Given the description of an element on the screen output the (x, y) to click on. 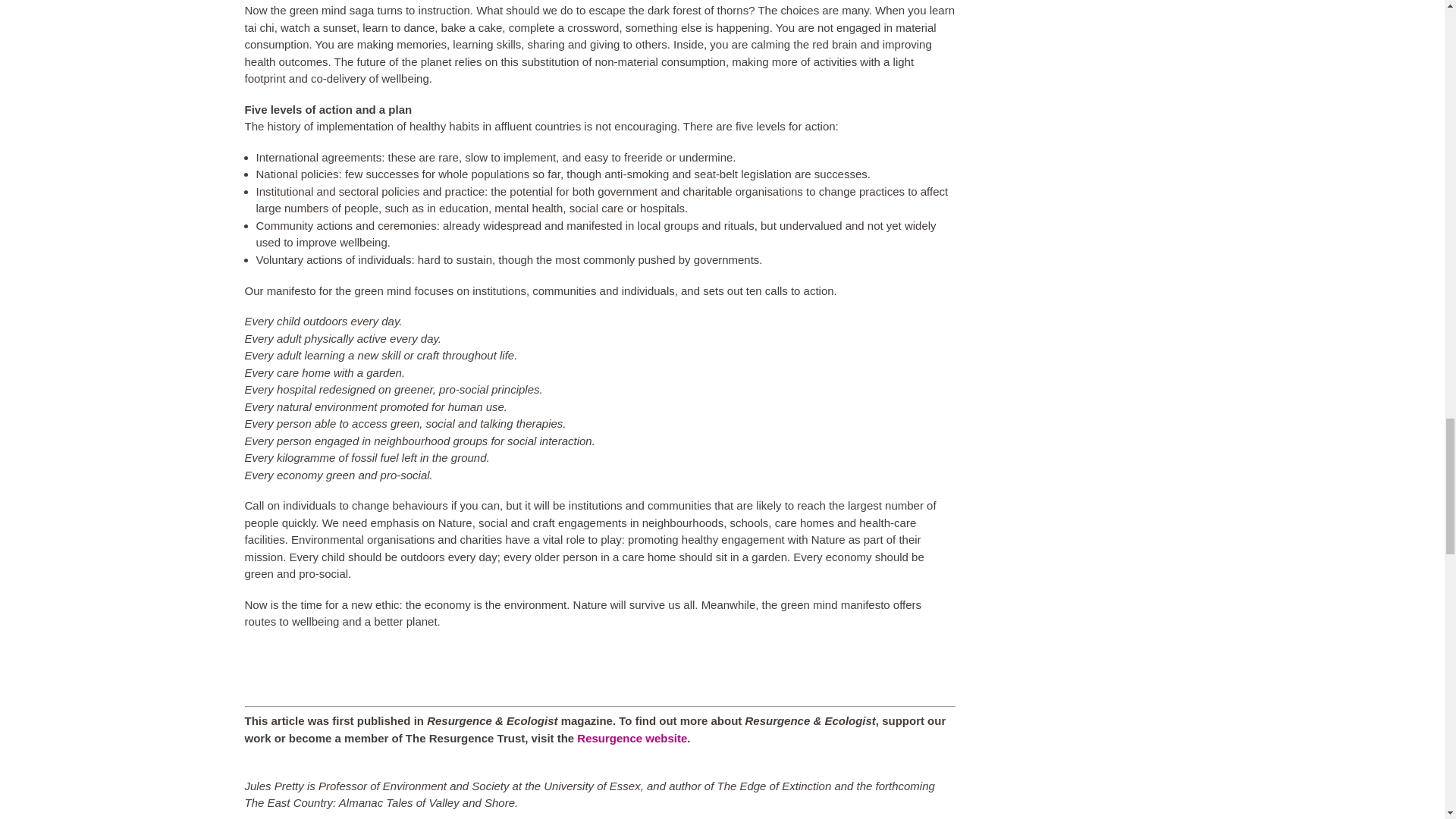
Resurgence (631, 738)
Resurgence website (631, 738)
